Given the description of an element on the screen output the (x, y) to click on. 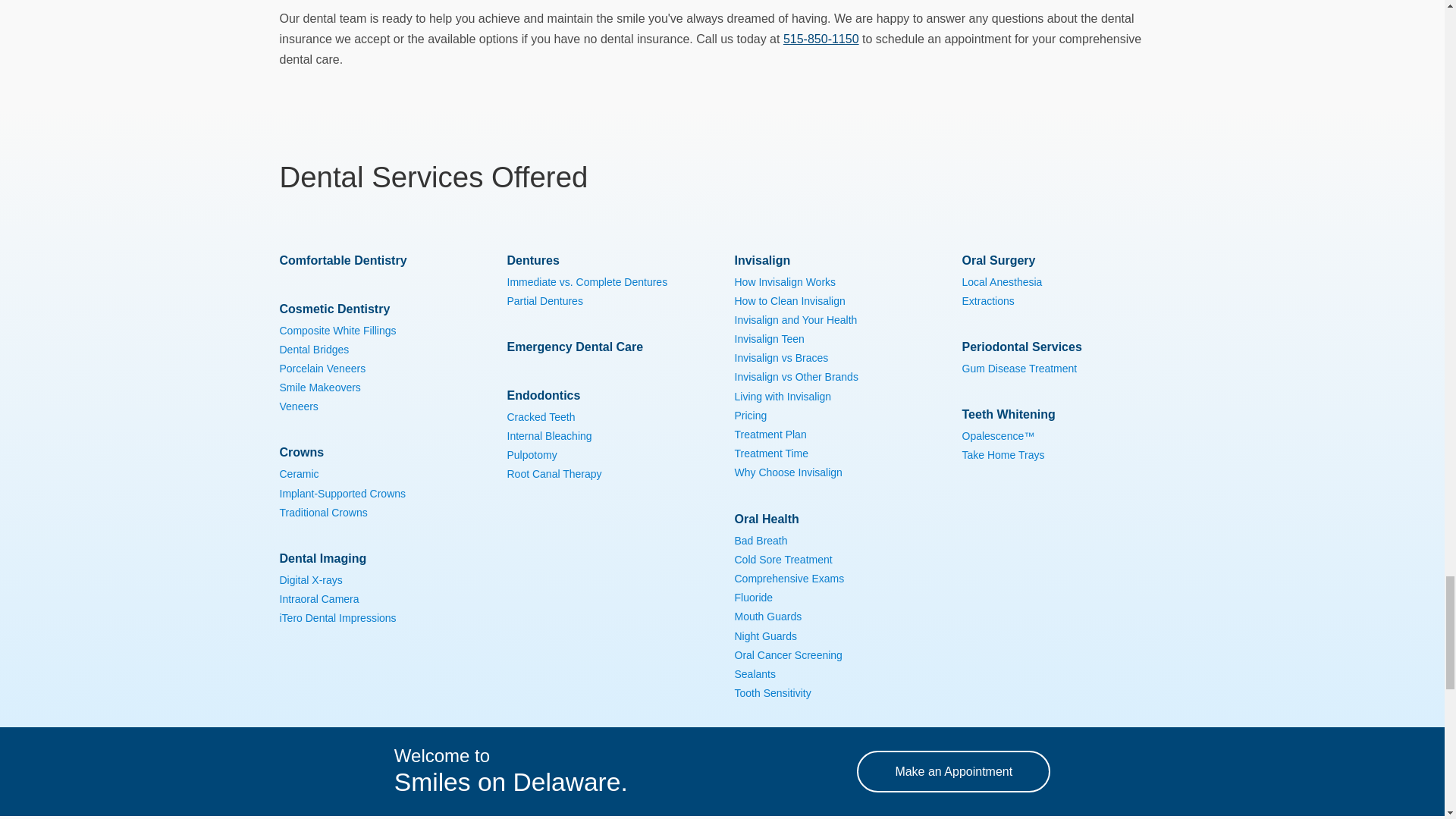
Invisalign (761, 259)
Veneers (298, 406)
Root Canal Therapy (553, 473)
Immediate vs. Complete Dentures (586, 282)
Implant-Supported Crowns (342, 493)
Emergency Dental Care (574, 346)
515-850-1150 (821, 38)
Dental Bridges (314, 349)
Pulpotomy (531, 454)
Composite White Fillings (337, 330)
